Given the description of an element on the screen output the (x, y) to click on. 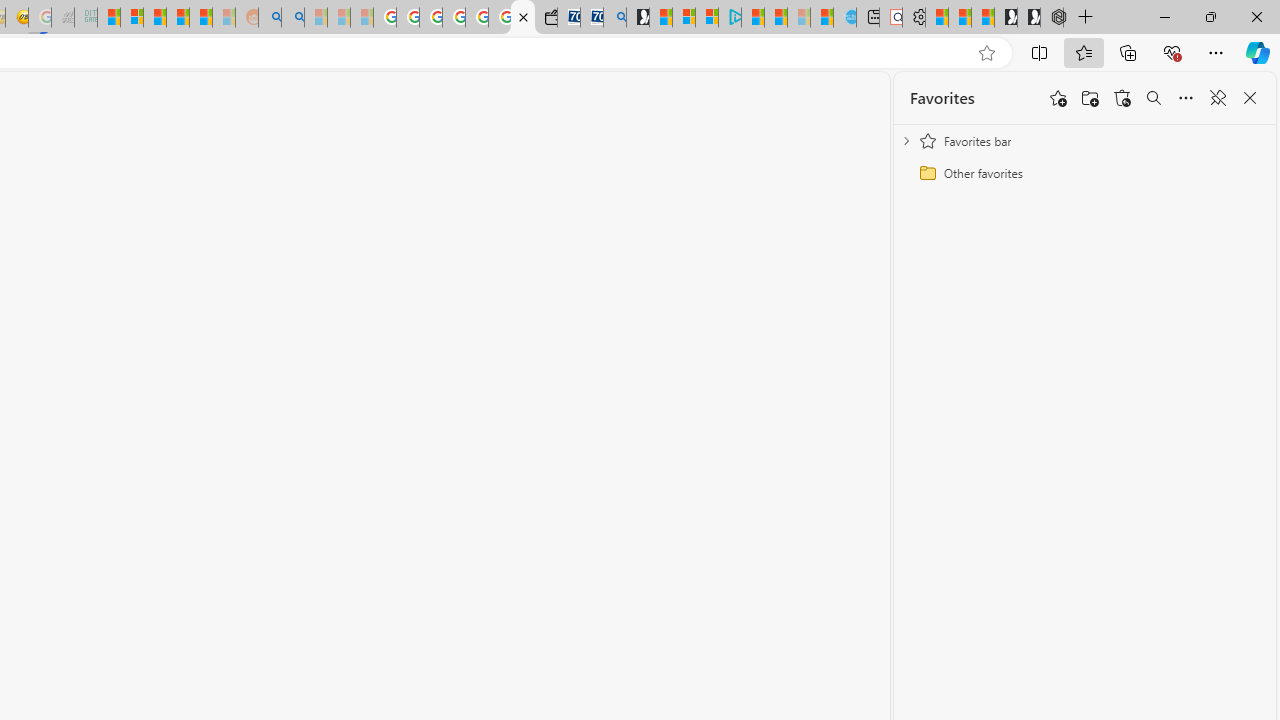
Utah sues federal government - Search (292, 17)
Student Loan Update: Forgiveness Program Ends This Month (200, 17)
Bing Real Estate - Home sales and rental listings (614, 17)
